Given the description of an element on the screen output the (x, y) to click on. 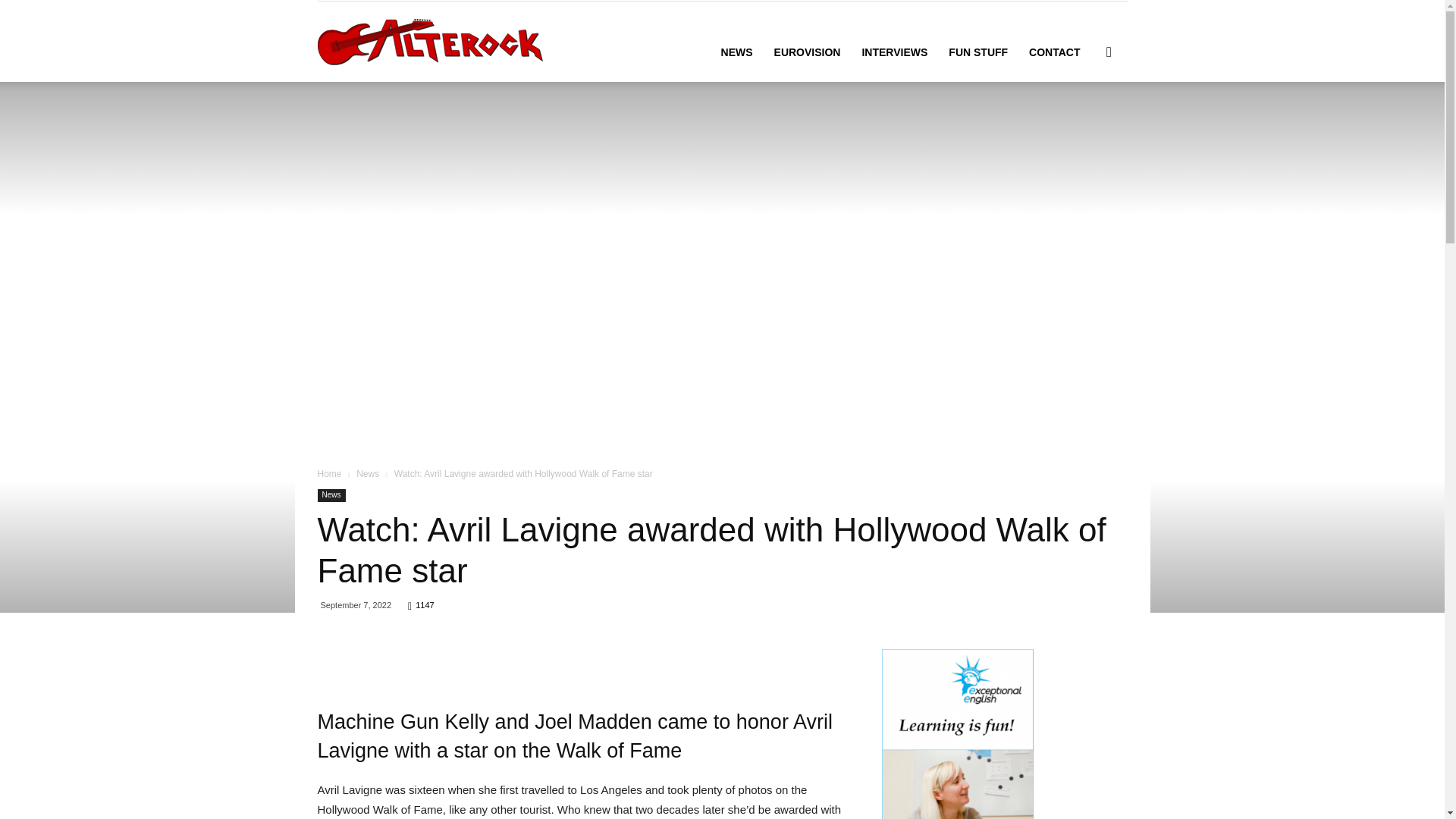
Search (1085, 124)
AlteRock (429, 41)
NEWS (736, 51)
